Given the description of an element on the screen output the (x, y) to click on. 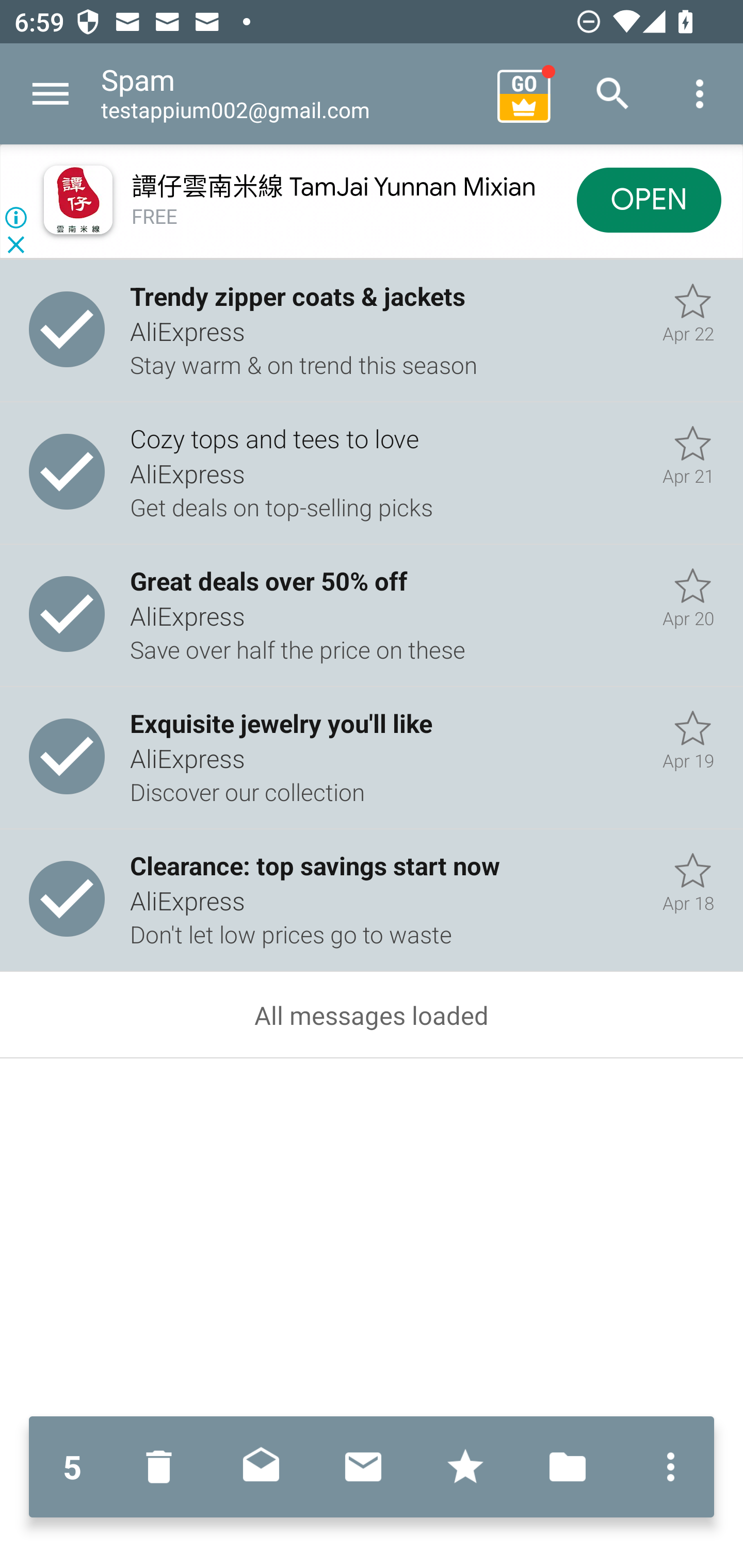
Navigate up (50, 93)
Spam testappium002@gmail.com (291, 93)
Search (612, 93)
More options (699, 93)
OPEN (648, 199)
譚仔雲南米線 TamJai Yunnan Mixian (333, 186)
FREE (154, 216)
All messages loaded (371, 1015)
5 5 messages (71, 1466)
Move to Deleted (162, 1466)
Mark read (261, 1466)
Mark unread (363, 1466)
Mark with stars (465, 1466)
Move to folder… (567, 1466)
More options (666, 1466)
